Given the description of an element on the screen output the (x, y) to click on. 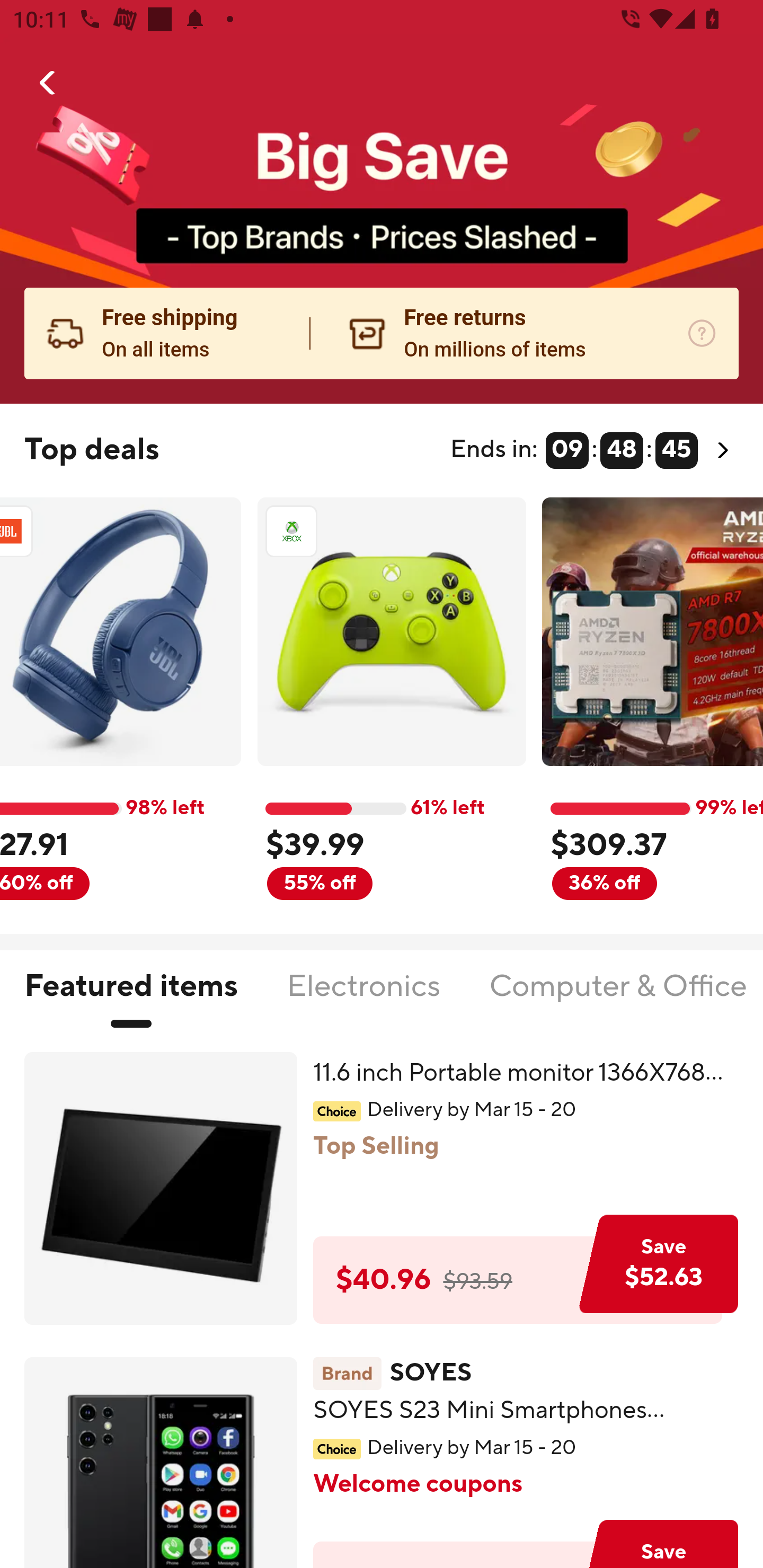
 (48, 82)
Featured items (130, 996)
Electronics (363, 996)
Computer & Office (617, 996)
